Given the description of an element on the screen output the (x, y) to click on. 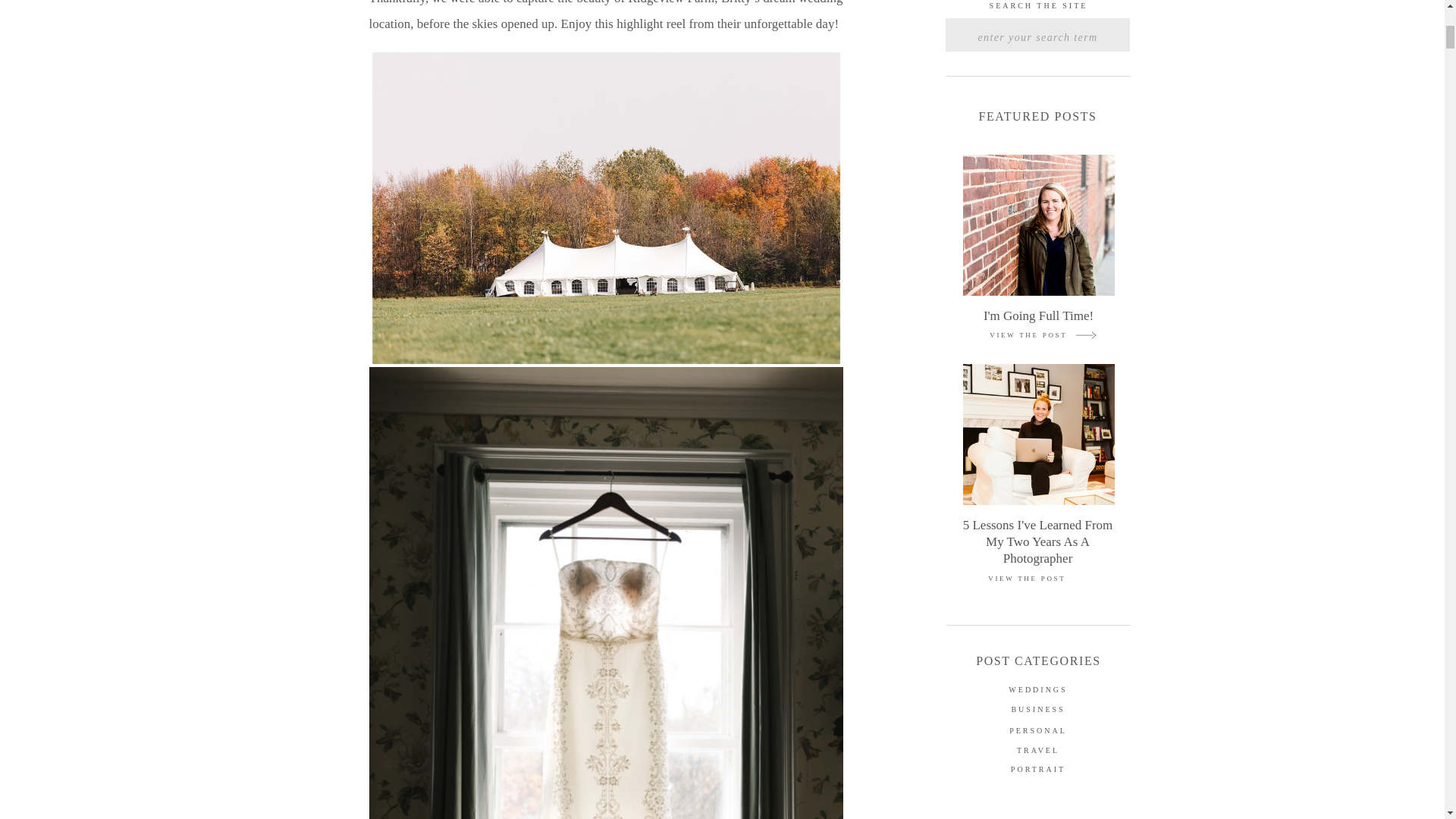
I'M Going Full Time! (1038, 315)
5 Lessons I'Ve Learned From My Two Years As A Photographer (1037, 534)
WEDDINGS (1038, 689)
PORTRAIT (1038, 770)
PERSONAL (1038, 731)
TRAVEL (1038, 751)
BUSINESS (1038, 710)
VIEW THE POST (1023, 580)
VIEW THE POST (1025, 336)
